Given the description of an element on the screen output the (x, y) to click on. 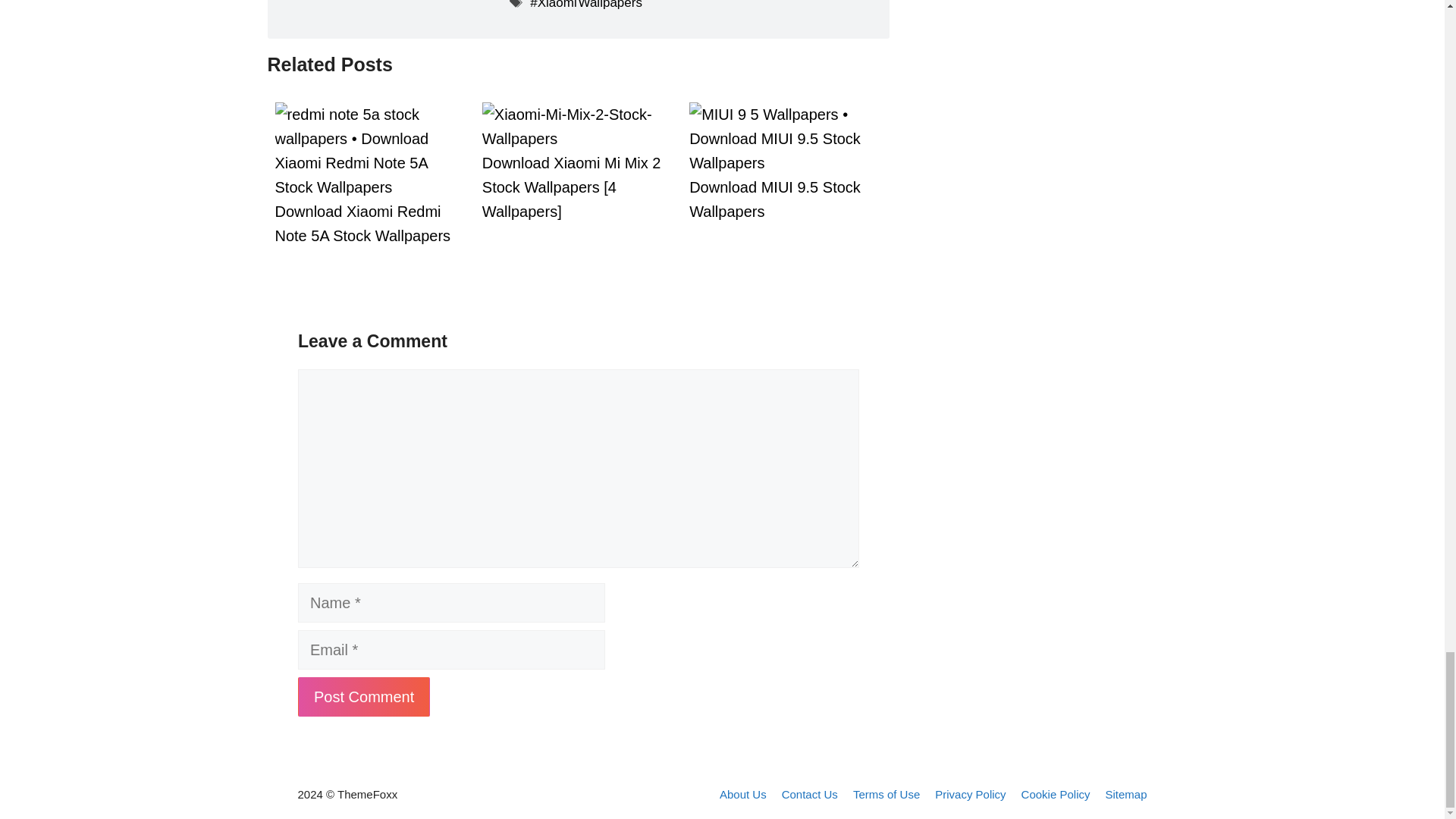
Xiaomi Wallpapers (585, 4)
